Given the description of an element on the screen output the (x, y) to click on. 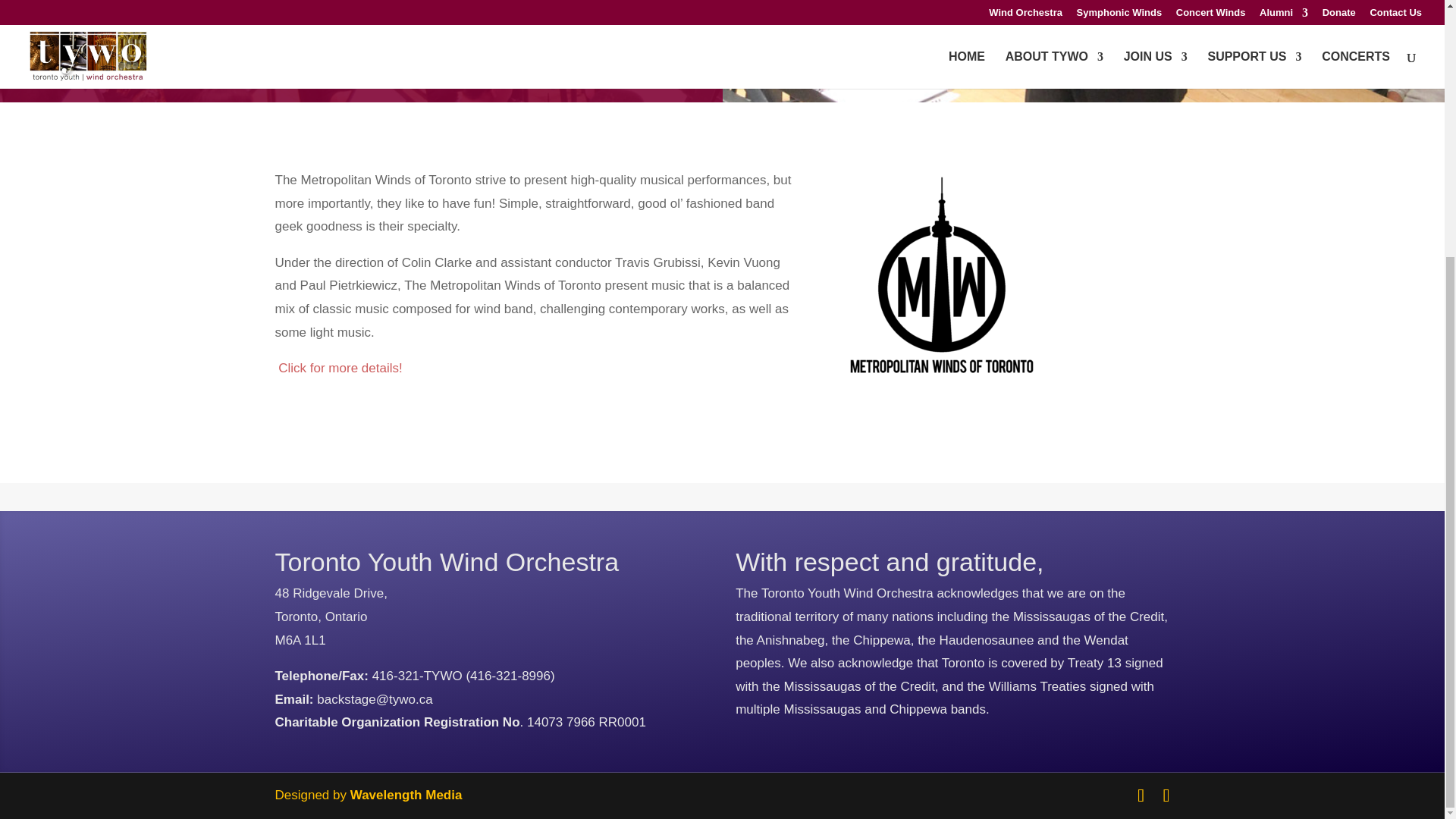
Metro-Logo-Square-Black-300x300-4 (941, 282)
